Given the description of an element on the screen output the (x, y) to click on. 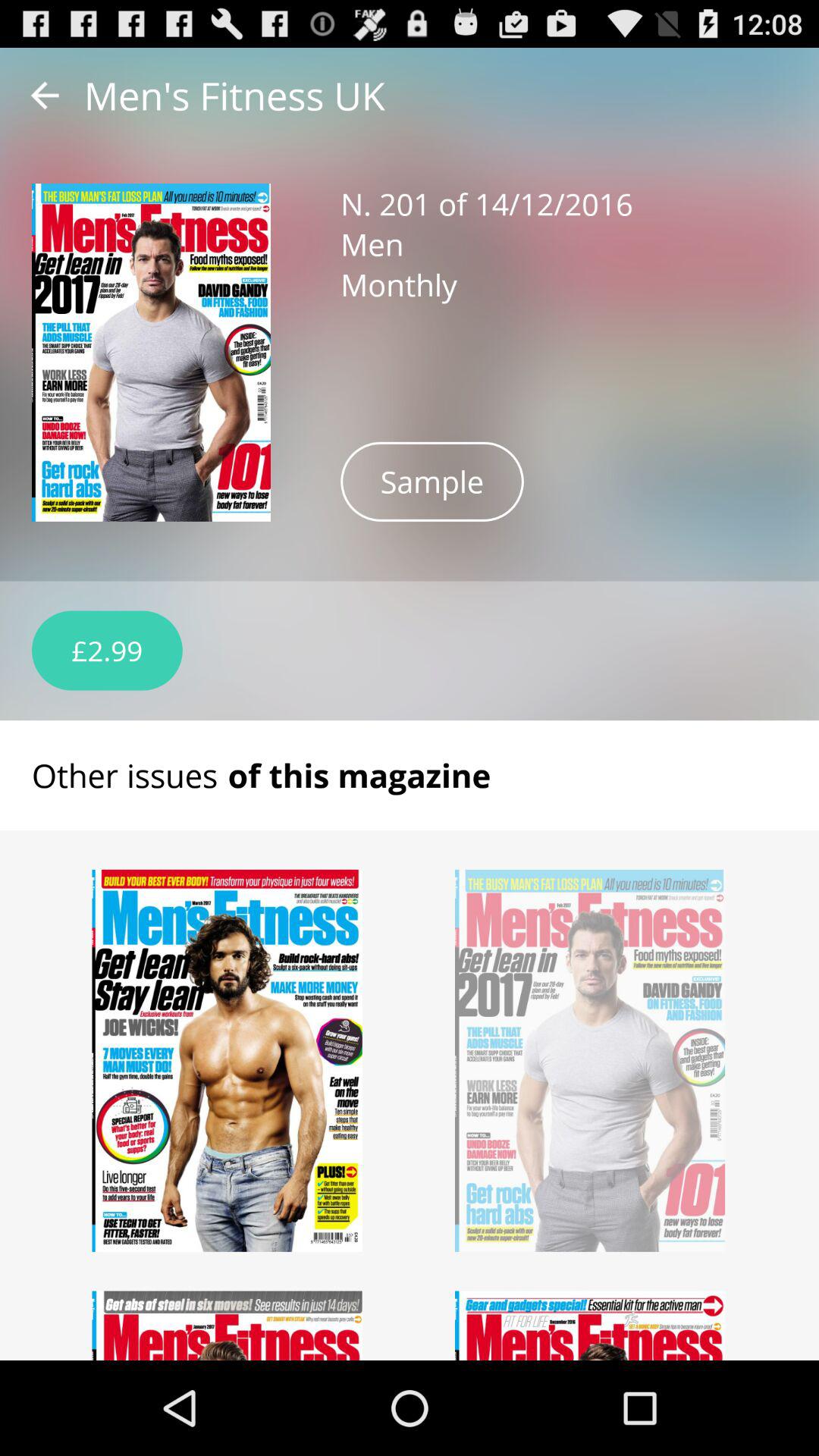
turn off icon above other issues (106, 650)
